Given the description of an element on the screen output the (x, y) to click on. 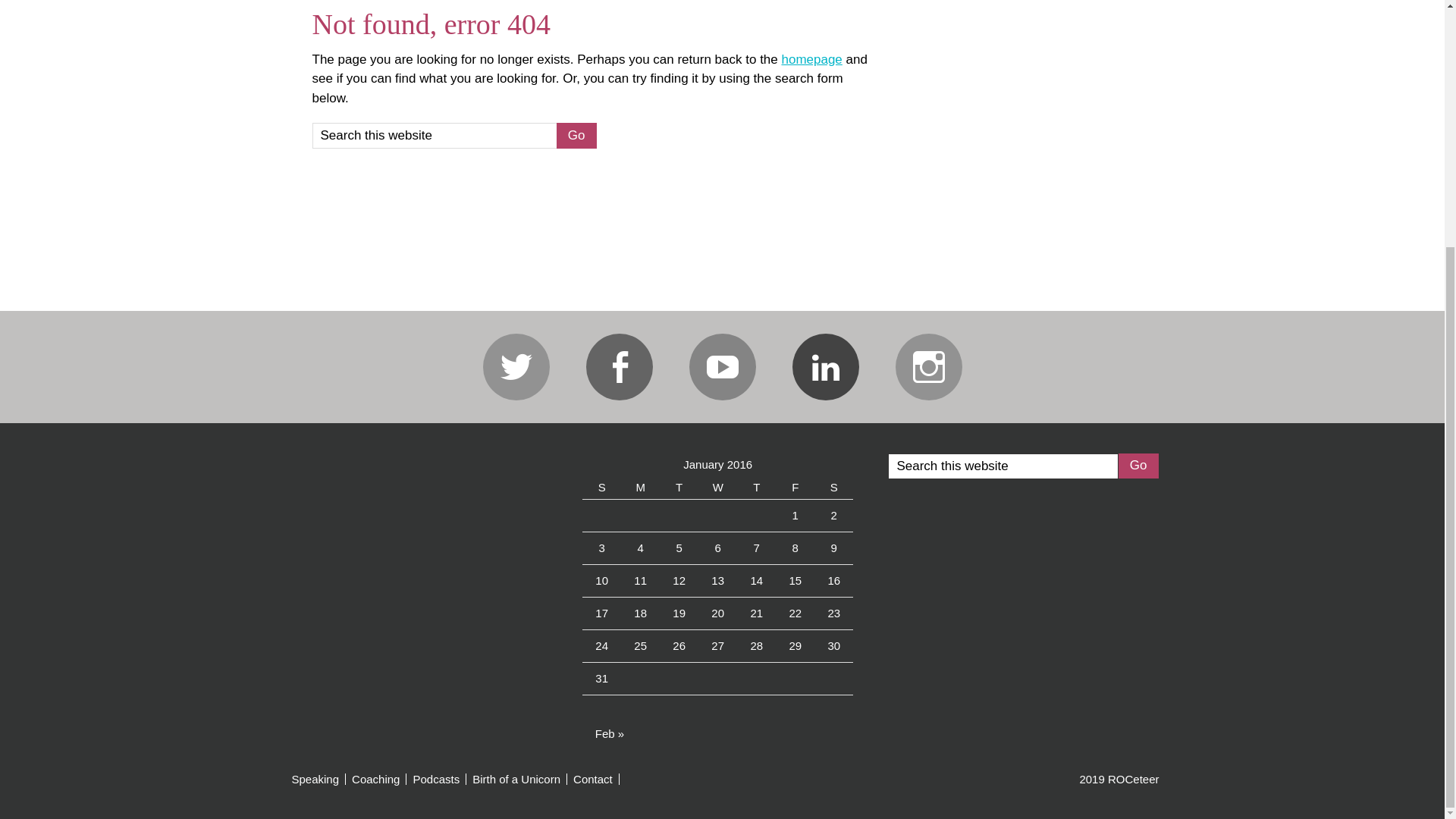
Go (576, 135)
29 (795, 645)
28 (755, 645)
Go (576, 135)
Wednesday (717, 487)
Facebook (618, 366)
Go (1138, 465)
27 (717, 645)
homepage (810, 59)
Twitter (514, 366)
Go (1138, 465)
Linkedin (825, 366)
Facebook (618, 366)
Go (576, 135)
31 (601, 677)
